Given the description of an element on the screen output the (x, y) to click on. 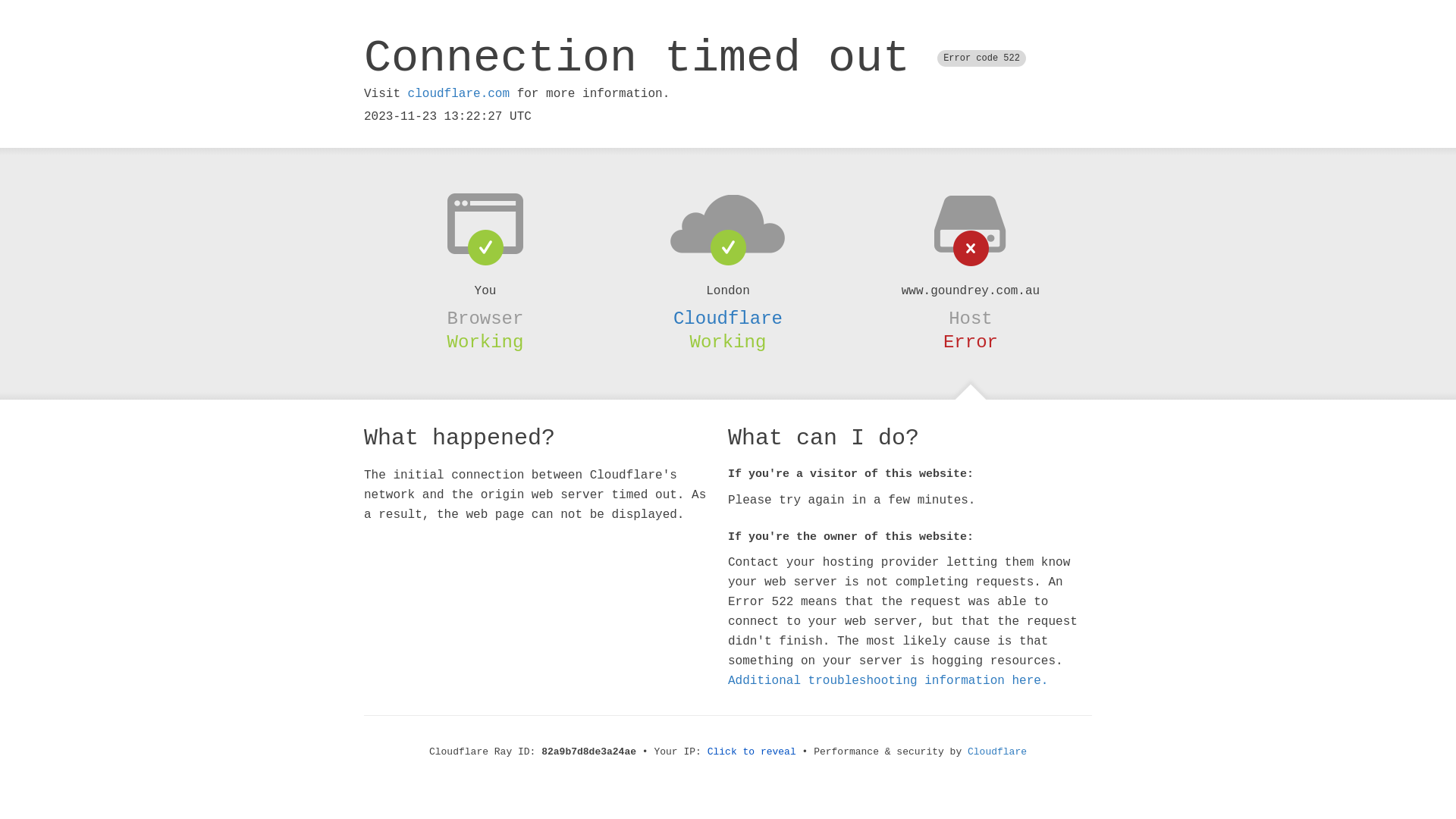
Cloudflare Element type: text (727, 318)
Cloudflare Element type: text (996, 751)
Additional troubleshooting information here. Element type: text (888, 680)
Click to reveal Element type: text (751, 751)
cloudflare.com Element type: text (458, 93)
